Given the description of an element on the screen output the (x, y) to click on. 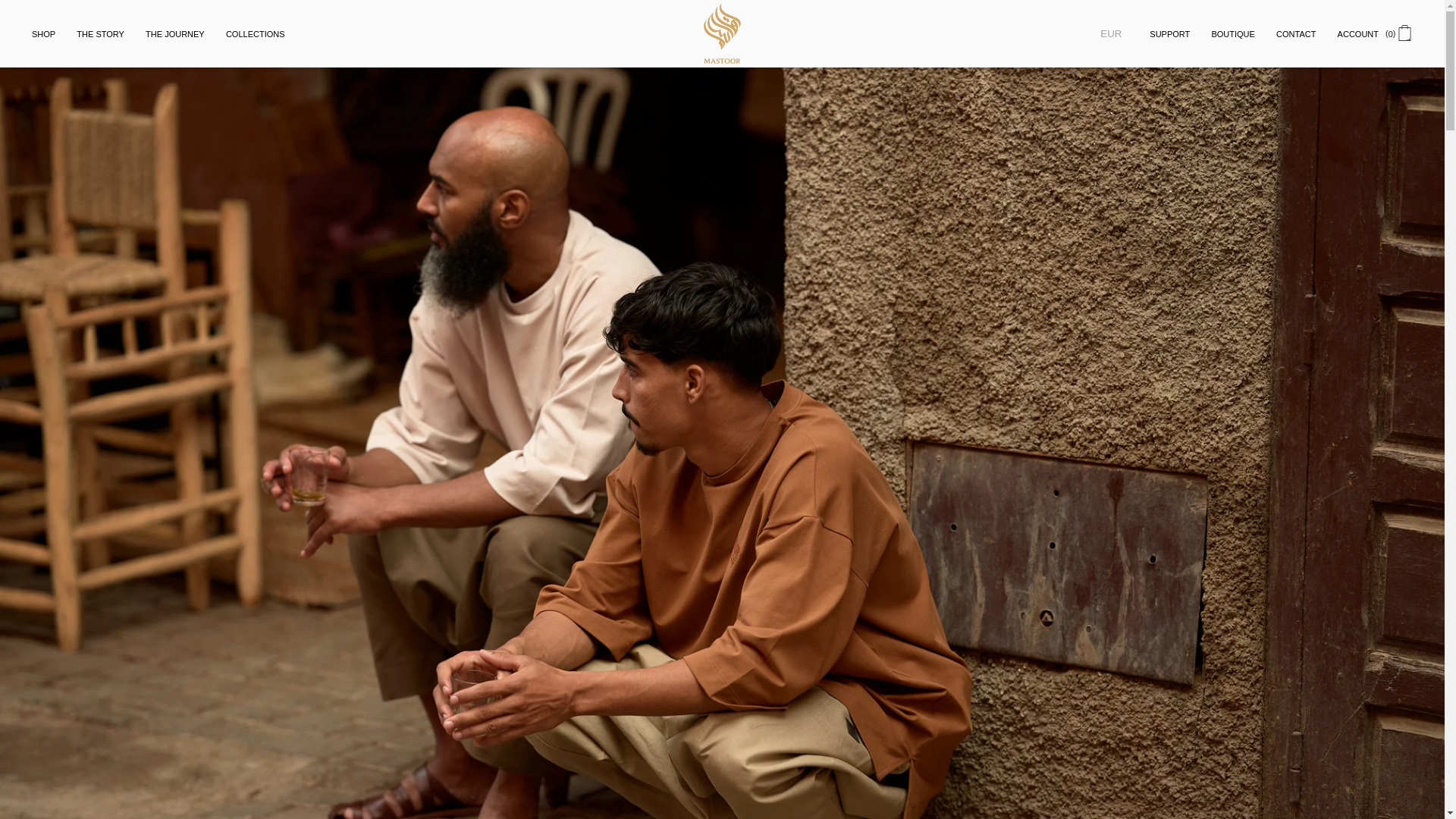
THE STORY (99, 34)
SHOP (43, 34)
THE JOURNEY (175, 34)
ACCOUNT (1357, 34)
BOUTIQUE (1232, 34)
COLLECTIONS (255, 34)
Open cart (1404, 34)
CONTACT (1295, 34)
SUPPORT (1169, 34)
